Given the description of an element on the screen output the (x, y) to click on. 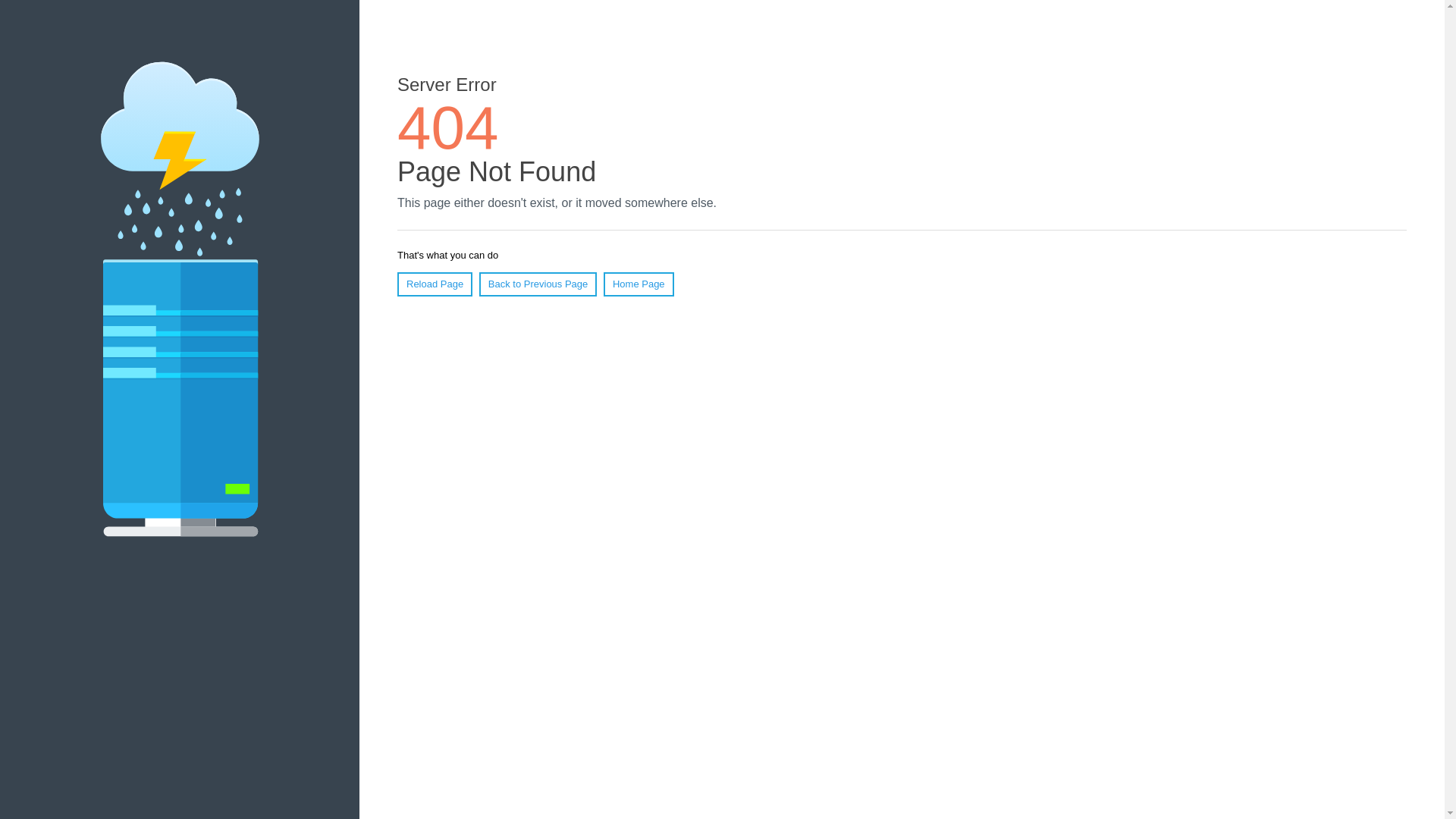
Home Page Element type: text (638, 284)
Reload Page Element type: text (434, 284)
Back to Previous Page Element type: text (538, 284)
